Given the description of an element on the screen output the (x, y) to click on. 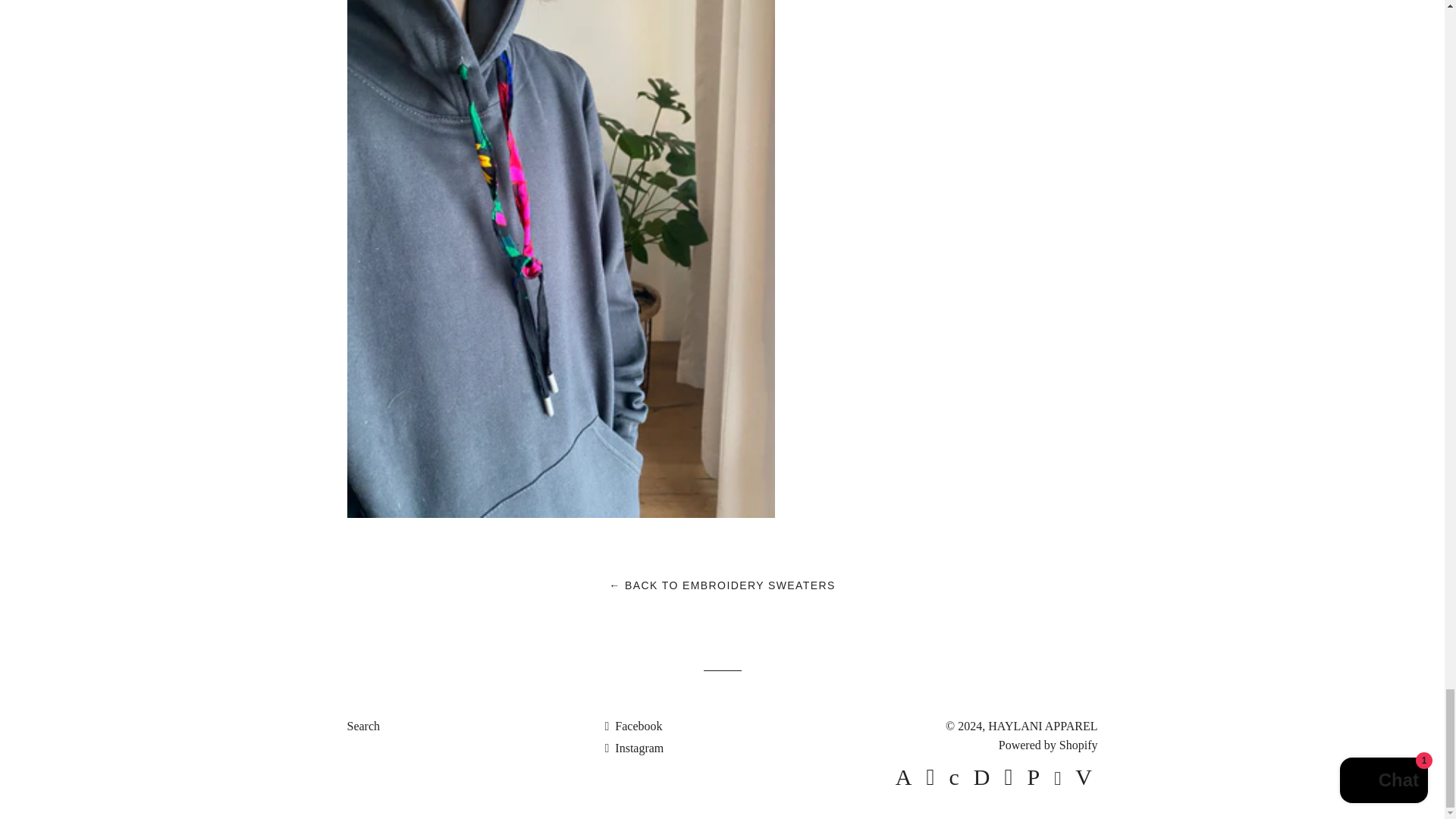
Facebook (633, 725)
HAYLANI APPAREL (1042, 725)
Instagram (633, 748)
Powered by Shopify (1047, 744)
HAYLANI APPAREL on Instagram (633, 748)
HAYLANI APPAREL on Facebook (633, 725)
Search (363, 725)
